Given the description of an element on the screen output the (x, y) to click on. 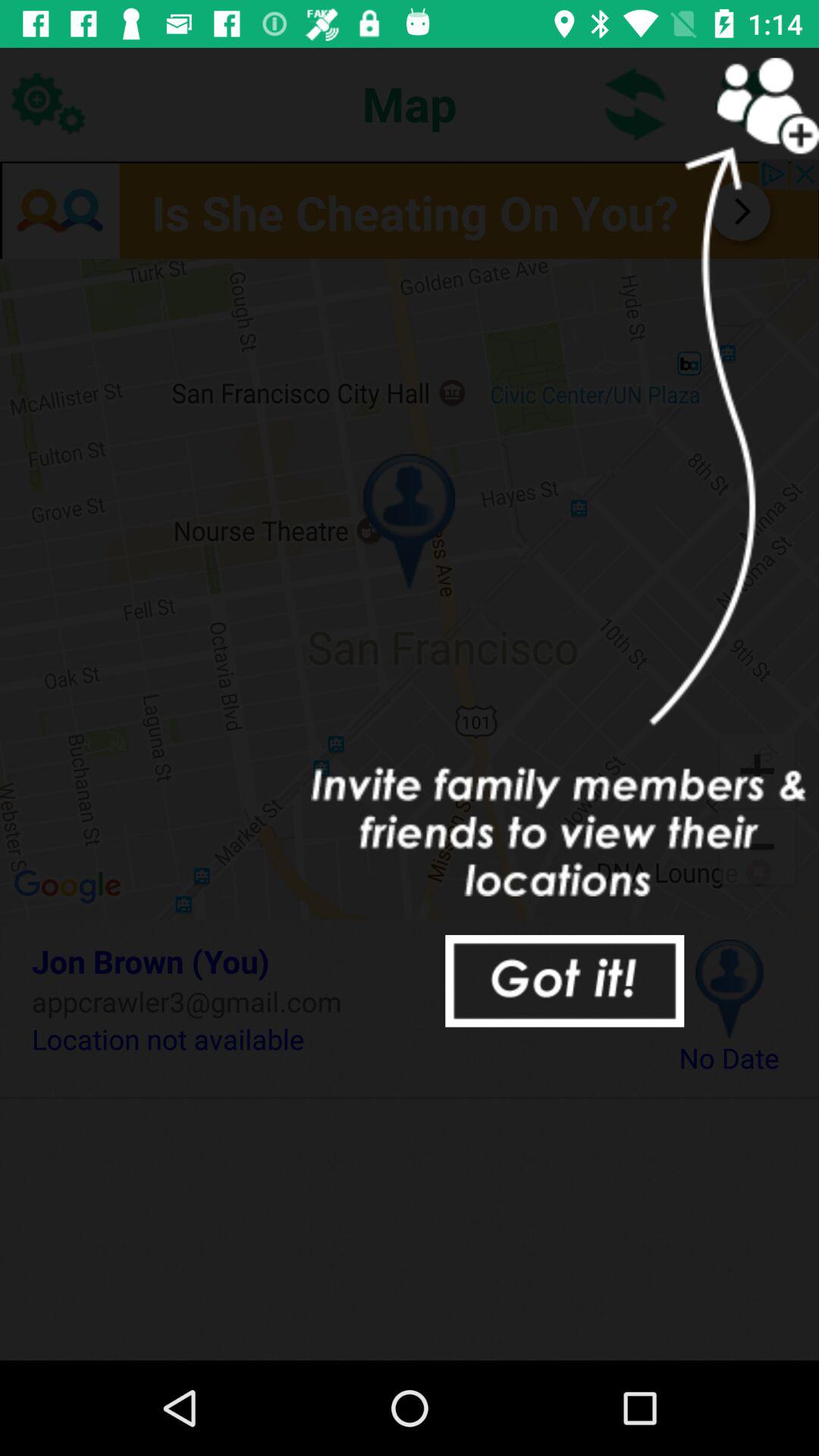
scroll until appcrawler3@gmail.com (332, 1001)
